Given the description of an element on the screen output the (x, y) to click on. 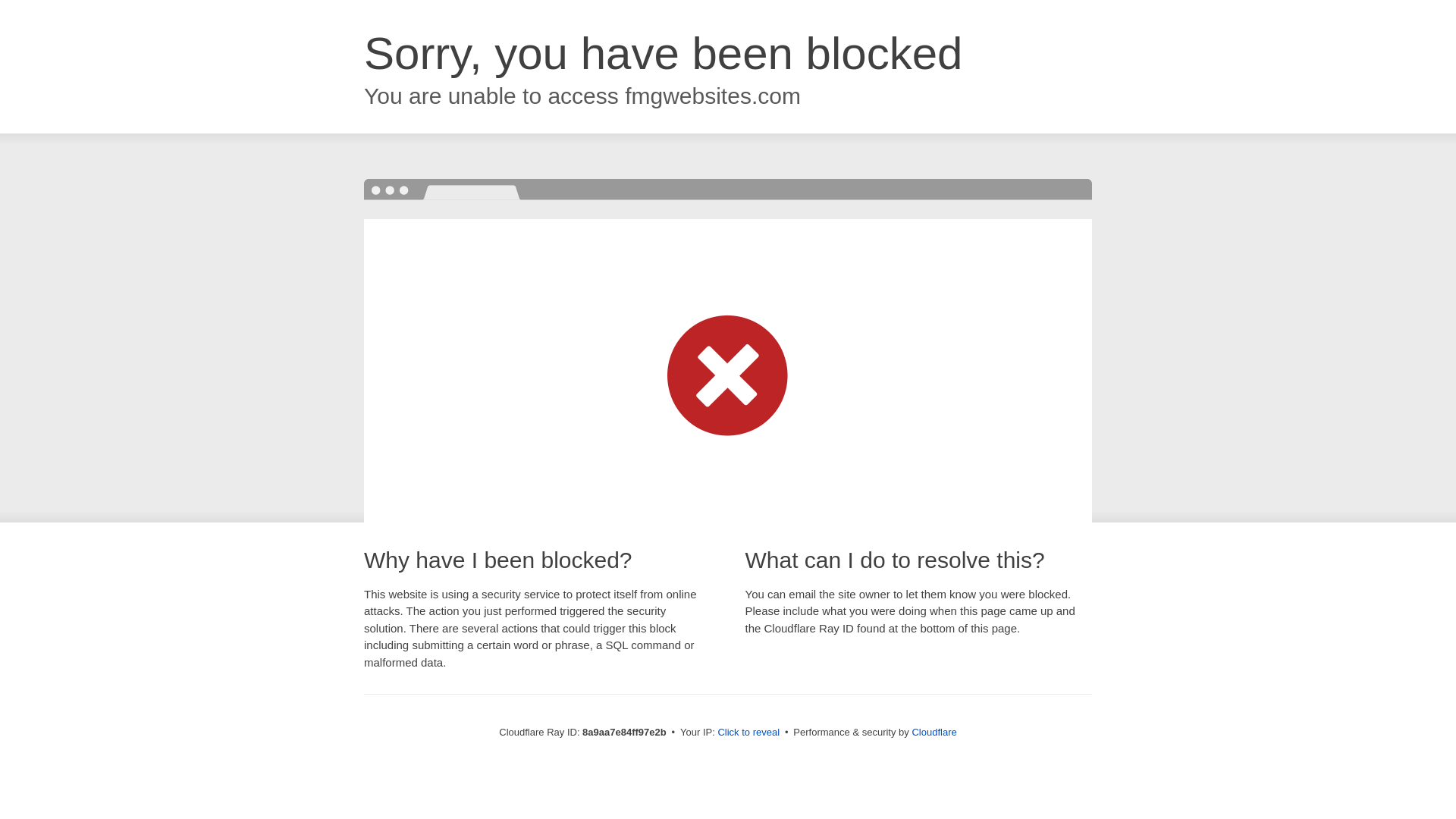
Cloudflare (933, 731)
Click to reveal (747, 732)
